Given the description of an element on the screen output the (x, y) to click on. 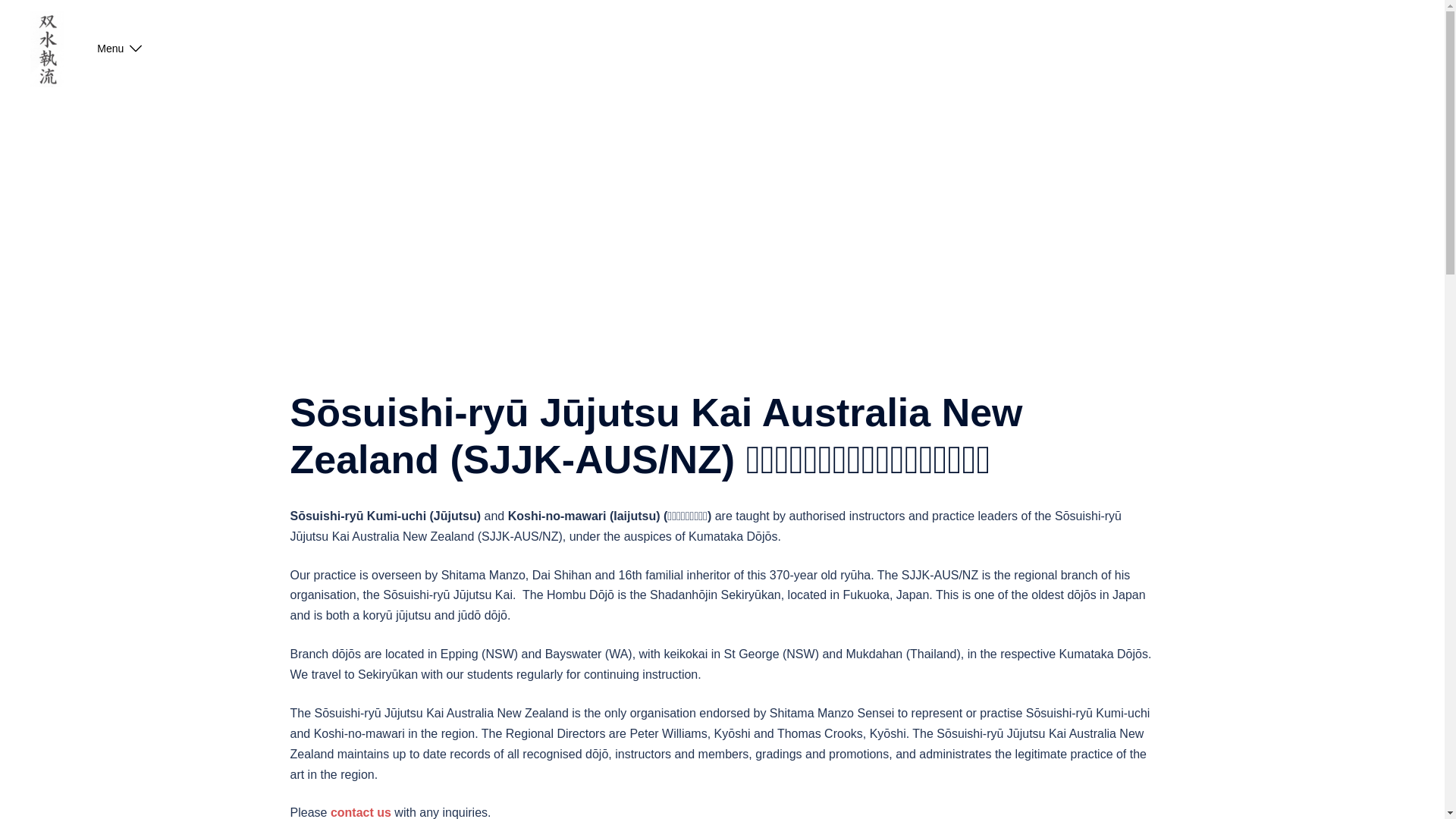
Menu Element type: text (110, 49)
